Given the description of an element on the screen output the (x, y) to click on. 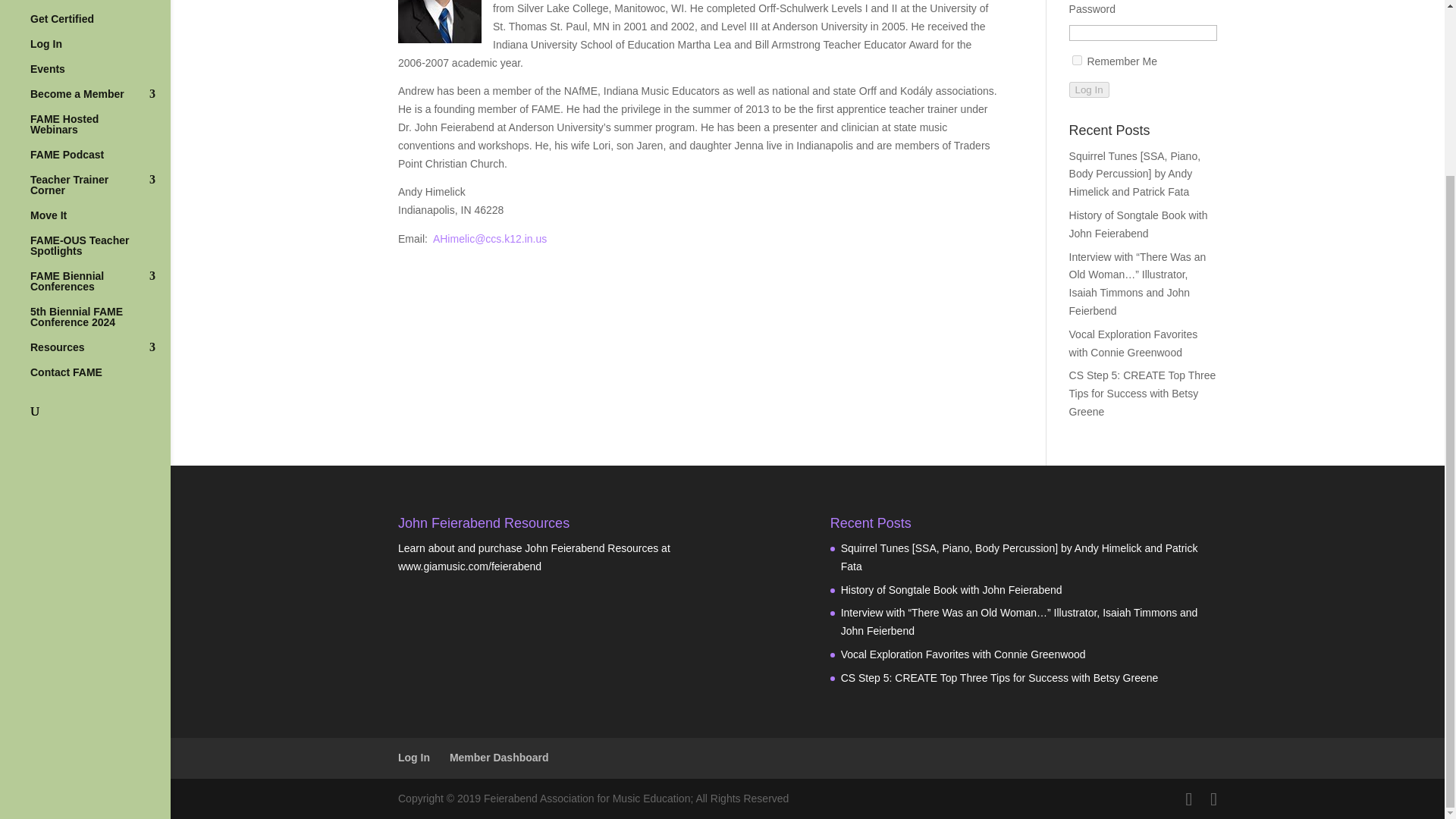
Get Certified (100, 25)
Become a Member (100, 100)
FAME Biennial Conferences (100, 288)
FAME-OUS Teacher Spotlights (100, 253)
FAME Hosted Webinars (100, 131)
forever (1076, 60)
Move It (100, 222)
Diversity, Equity, and Inclusion (100, 6)
FAME Podcast (100, 161)
Teacher Trainer Corner (100, 191)
